Given the description of an element on the screen output the (x, y) to click on. 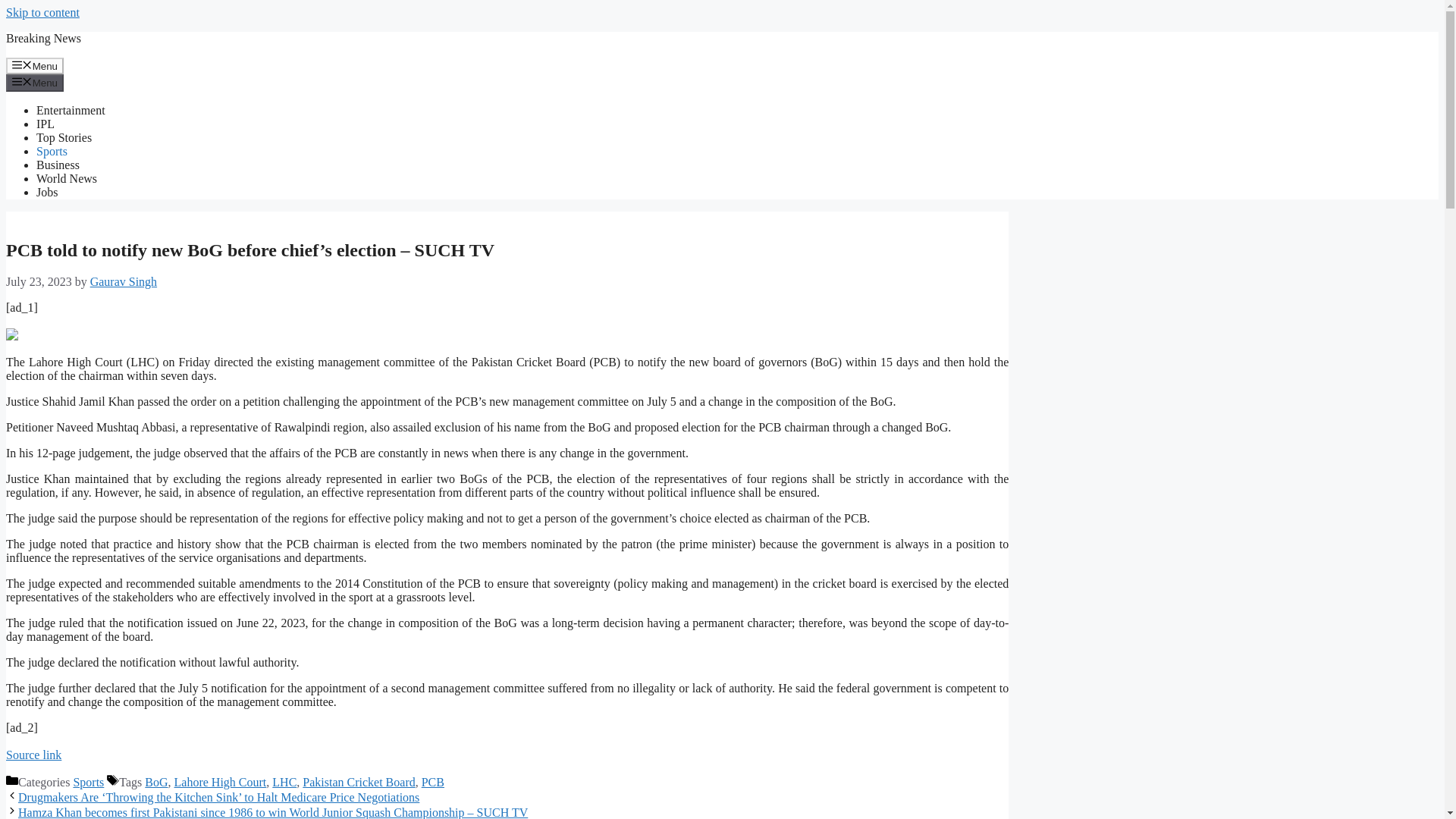
Top Stories (63, 137)
Entertainment (70, 110)
Menu (34, 65)
View all posts by Gaurav Singh (123, 281)
Source link (33, 754)
Sports (87, 781)
World News (66, 178)
Lahore High Court (220, 781)
Skip to content (42, 11)
IPL (45, 123)
